Given the description of an element on the screen output the (x, y) to click on. 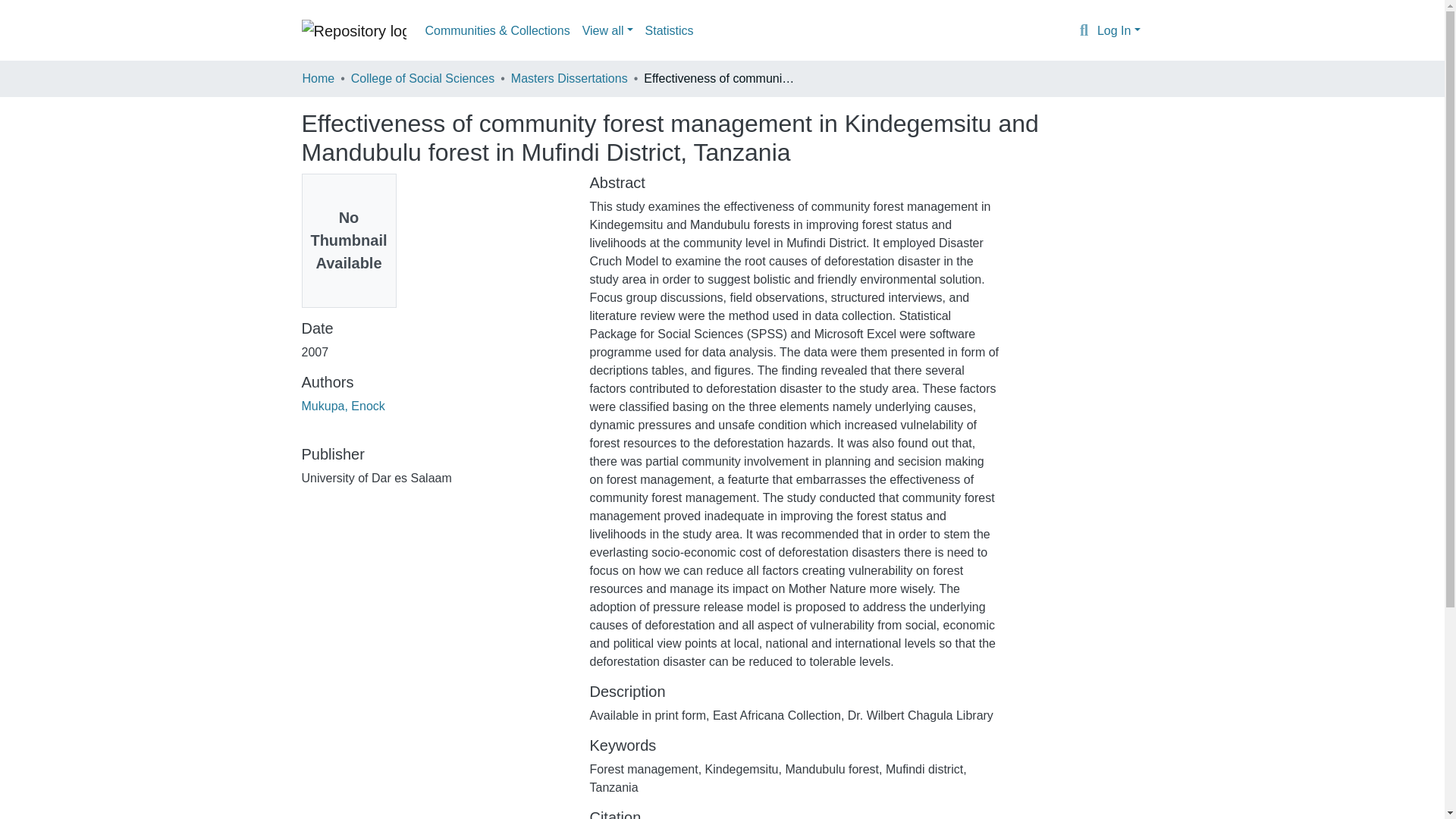
Home (317, 78)
Statistics (669, 30)
College of Social Sciences (422, 78)
Masters Dissertations (569, 78)
Mukupa, Enock (343, 405)
Search (1084, 30)
View all (607, 30)
Log In (1118, 30)
Statistics (669, 30)
